Given the description of an element on the screen output the (x, y) to click on. 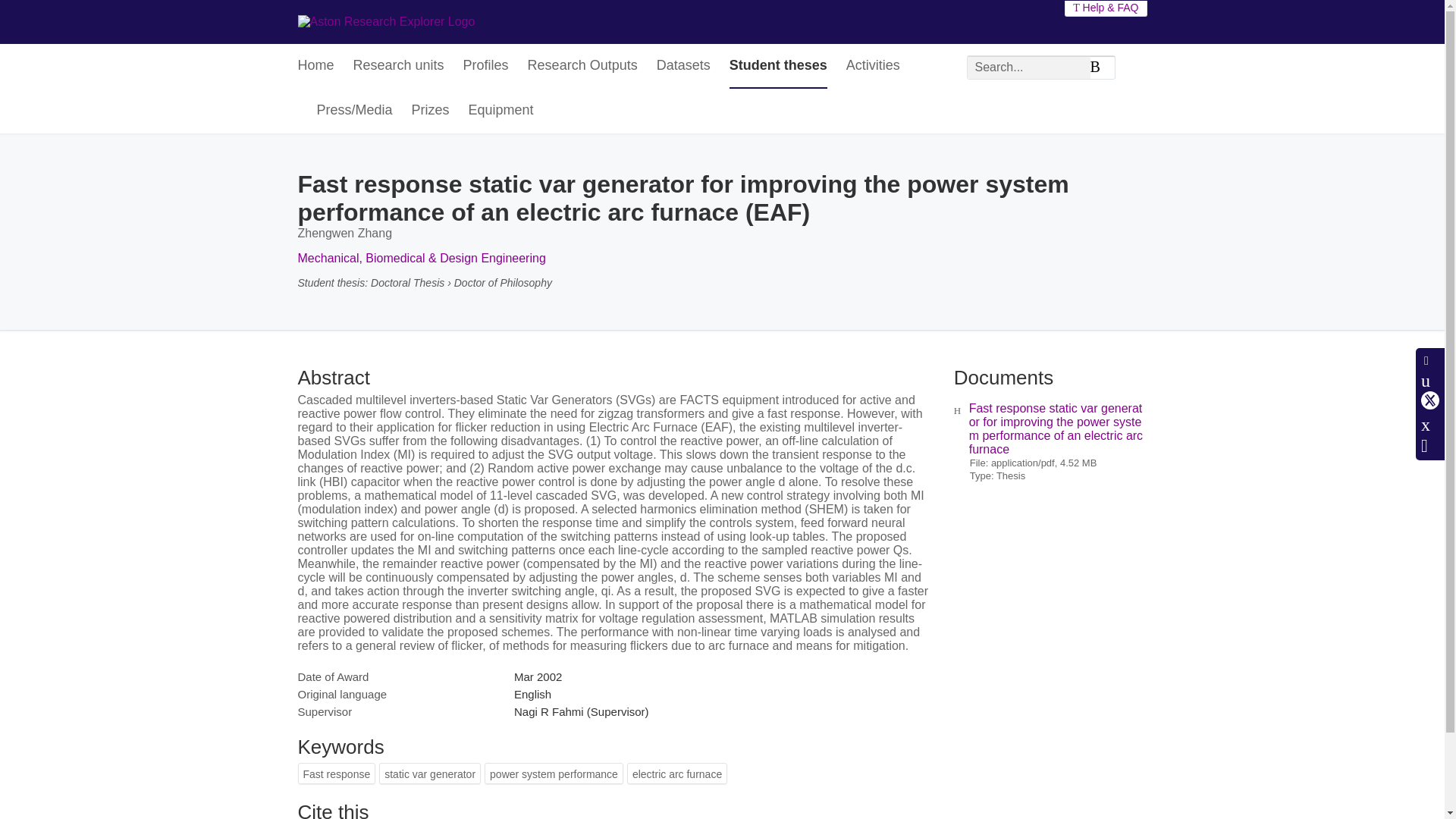
Aston Research Explorer Home (385, 21)
Student theses (778, 66)
Research Outputs (582, 66)
Research units (398, 66)
Equipment (501, 110)
Datasets (683, 66)
Profiles (485, 66)
Activities (872, 66)
